Given the description of an element on the screen output the (x, y) to click on. 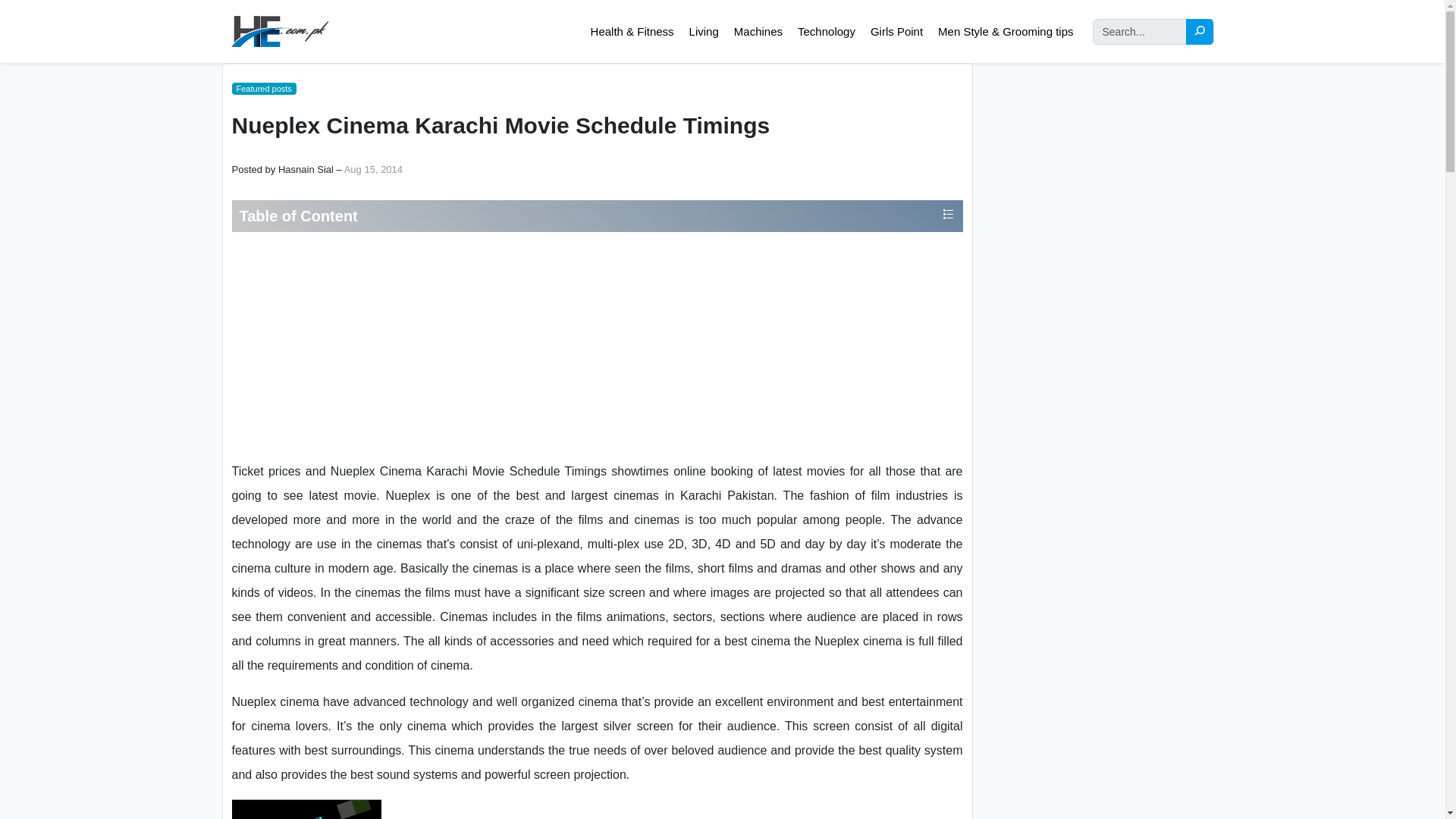
Machines (758, 31)
Featured posts (264, 88)
Advertisement (596, 345)
Living (703, 31)
Technology (826, 31)
Girls Point (896, 31)
